Given the description of an element on the screen output the (x, y) to click on. 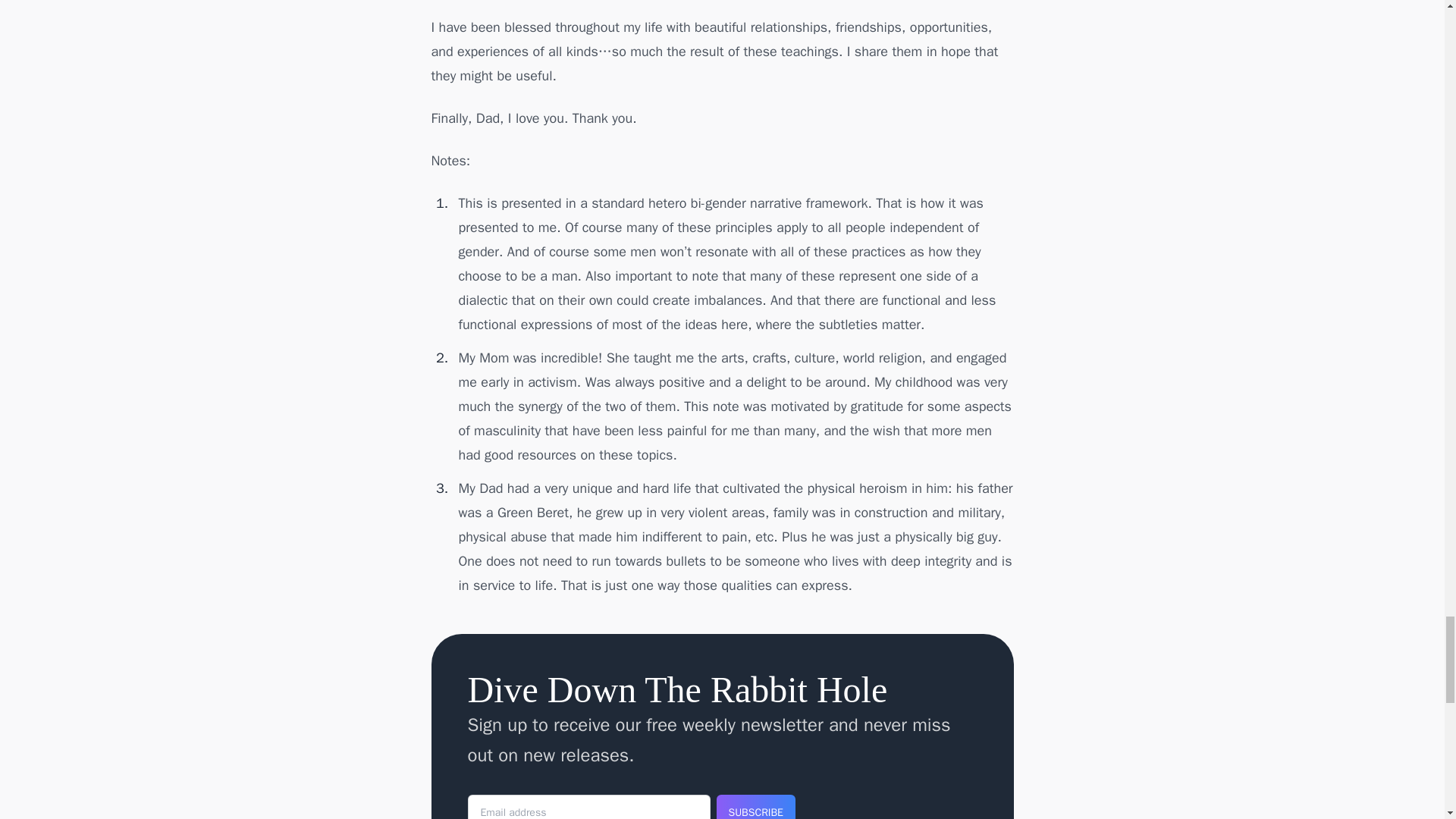
SUBSCRIBE (755, 806)
